Given the description of an element on the screen output the (x, y) to click on. 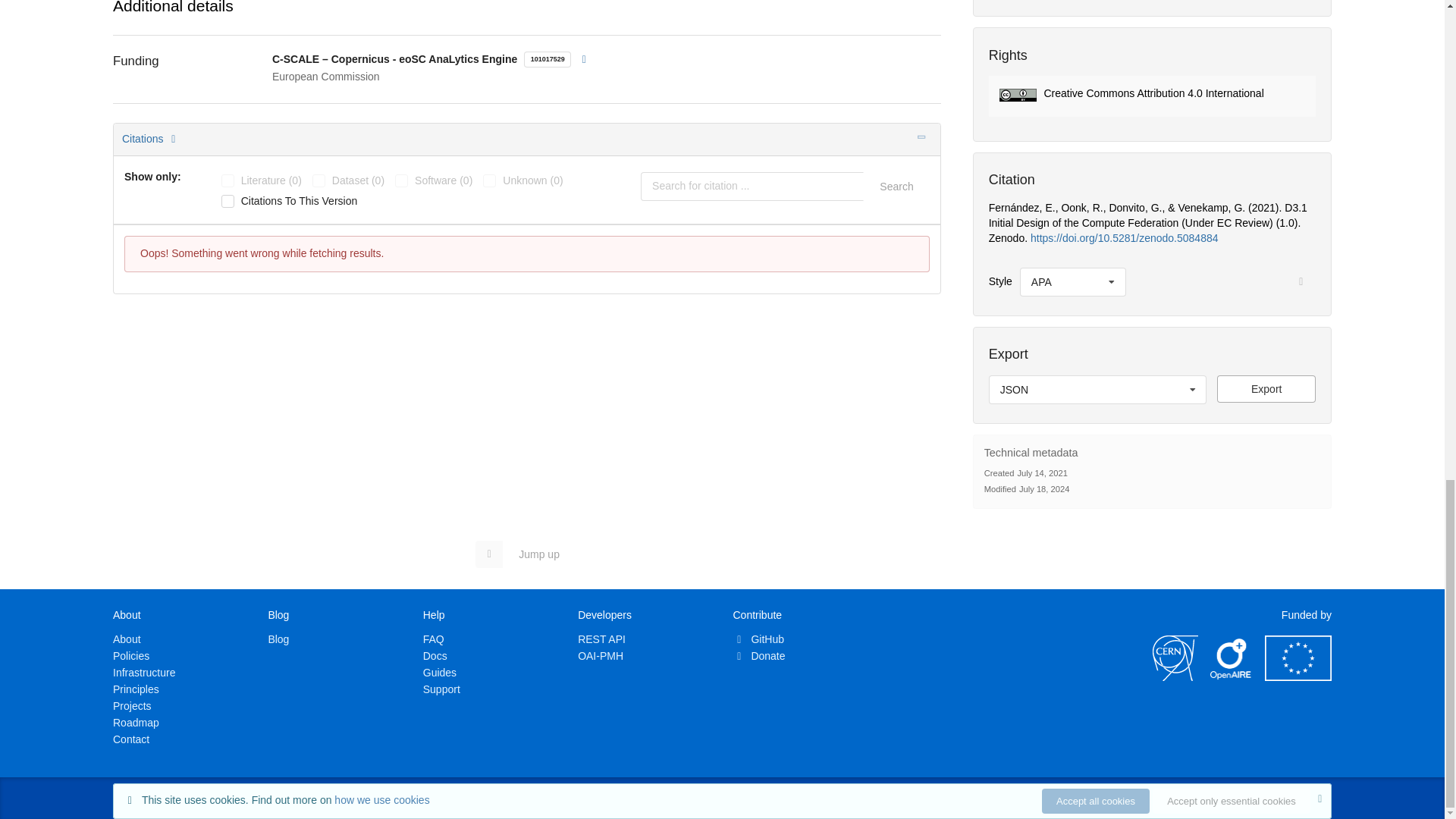
Search (895, 185)
Download file (1266, 388)
